Given the description of an element on the screen output the (x, y) to click on. 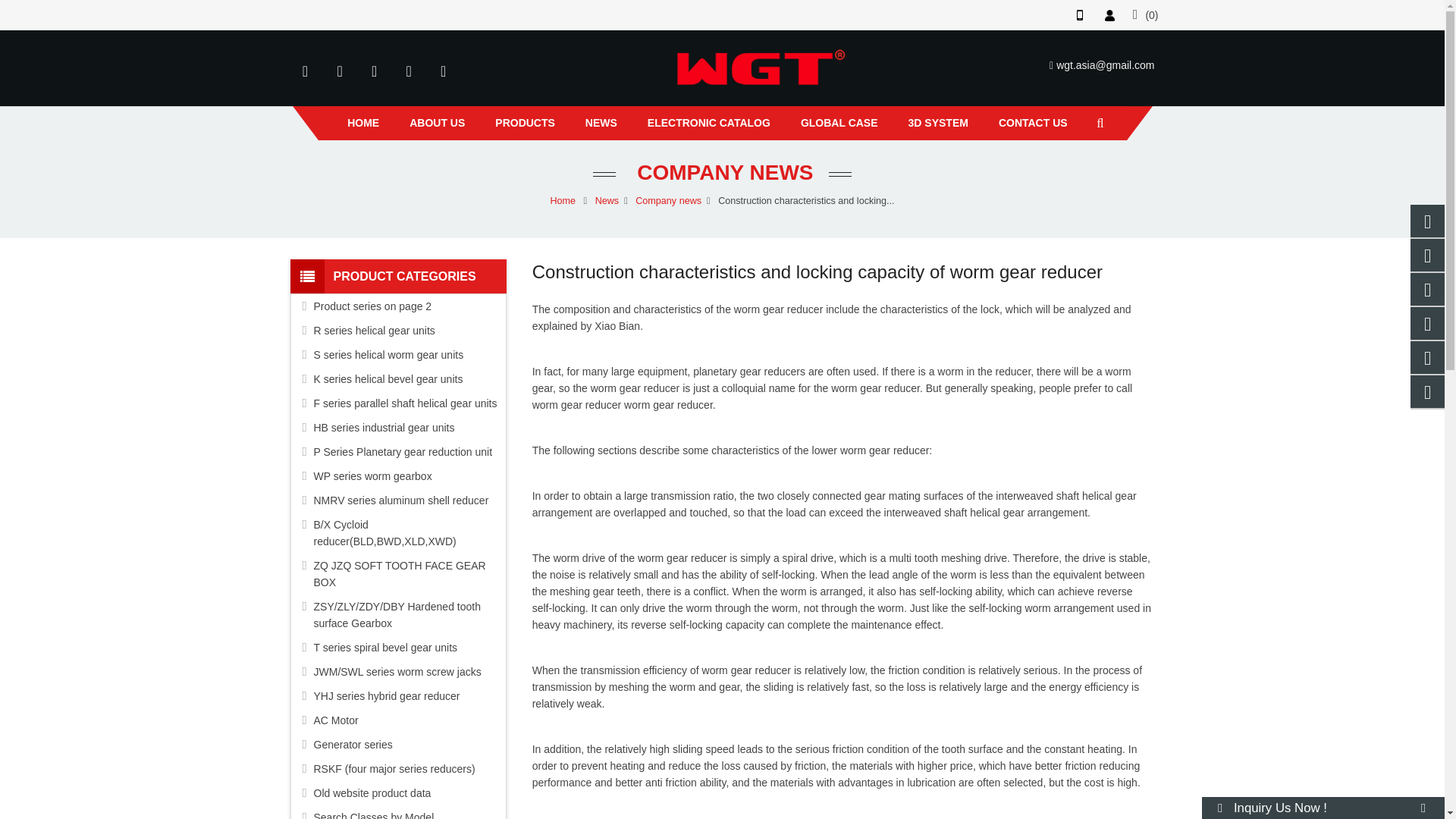
Products (525, 123)
ABOUT US (437, 123)
HOME (362, 123)
PRODUCTS (525, 123)
Home (362, 123)
About us (437, 123)
Member Login (1109, 15)
